Given the description of an element on the screen output the (x, y) to click on. 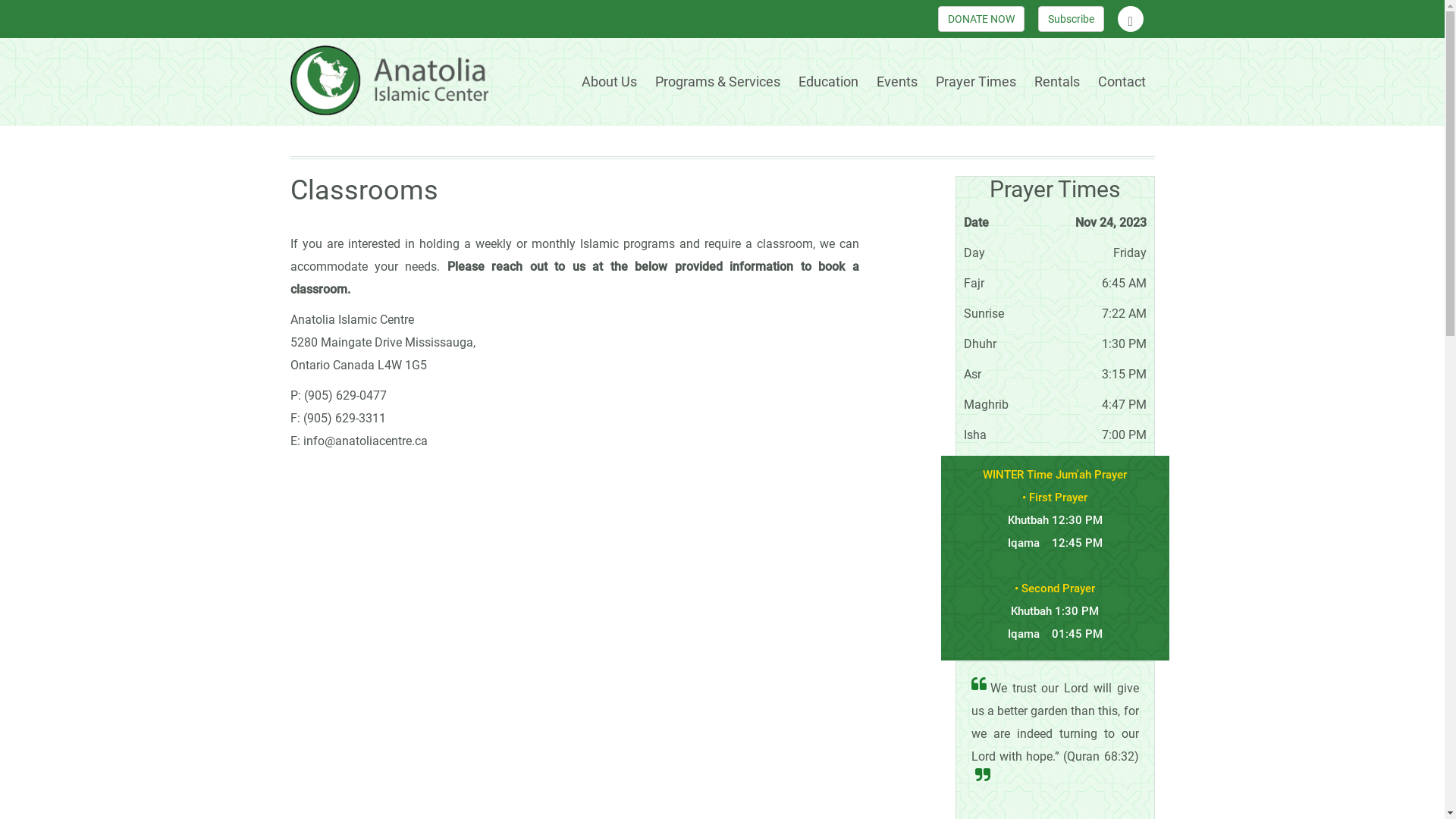
Contact Element type: text (1121, 81)
info@anatoliacentre.ca Element type: text (365, 440)
Subscribe Element type: text (1070, 18)
Programs & Services Element type: text (717, 81)
Prayer Times Element type: text (975, 81)
About Us Element type: text (608, 81)
Events Element type: text (896, 81)
Education Element type: text (827, 81)
DONATE NOW Element type: text (980, 18)
Rentals Element type: text (1056, 81)
